Given the description of an element on the screen output the (x, y) to click on. 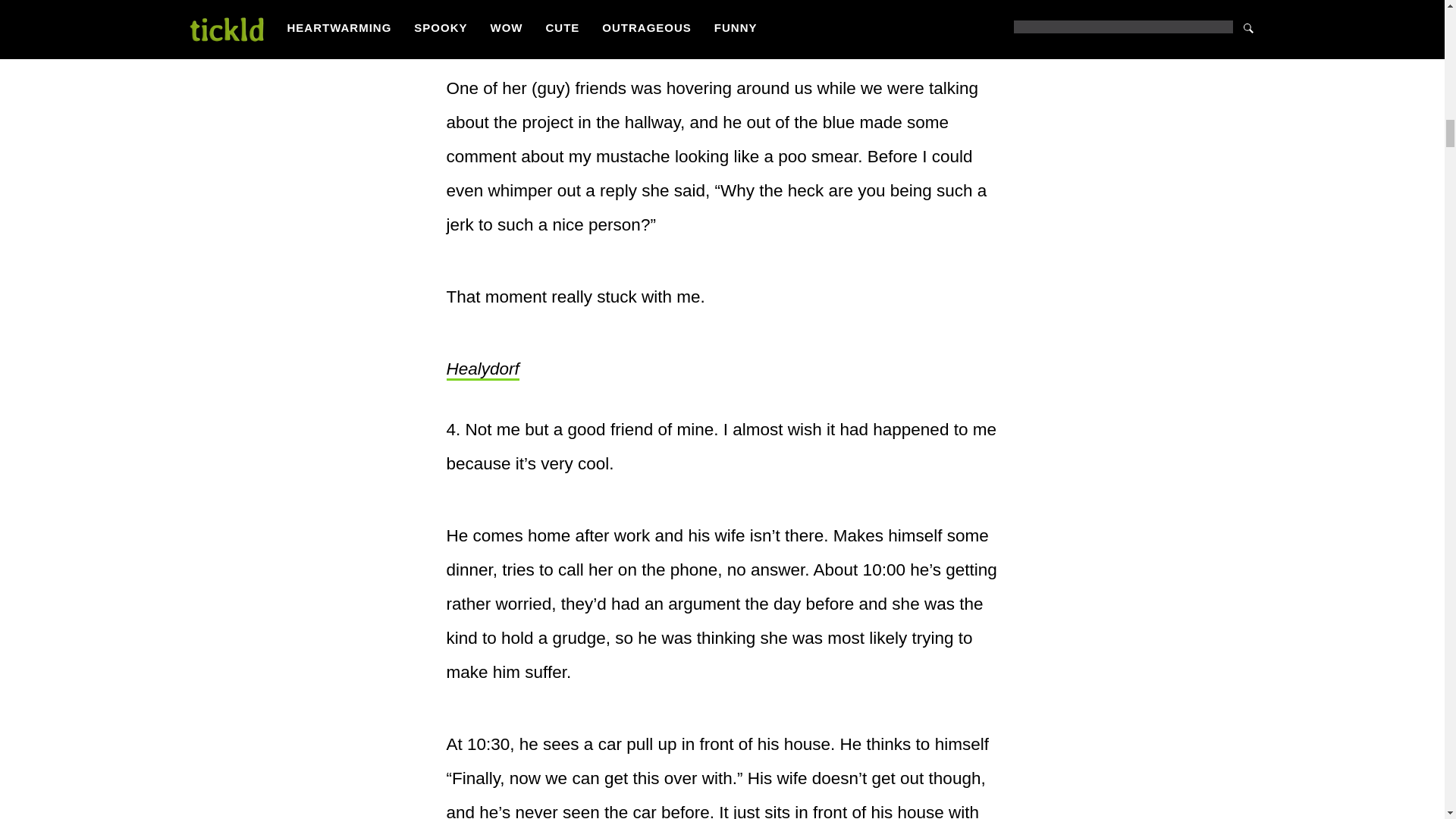
Healydorf (481, 369)
